Given the description of an element on the screen output the (x, y) to click on. 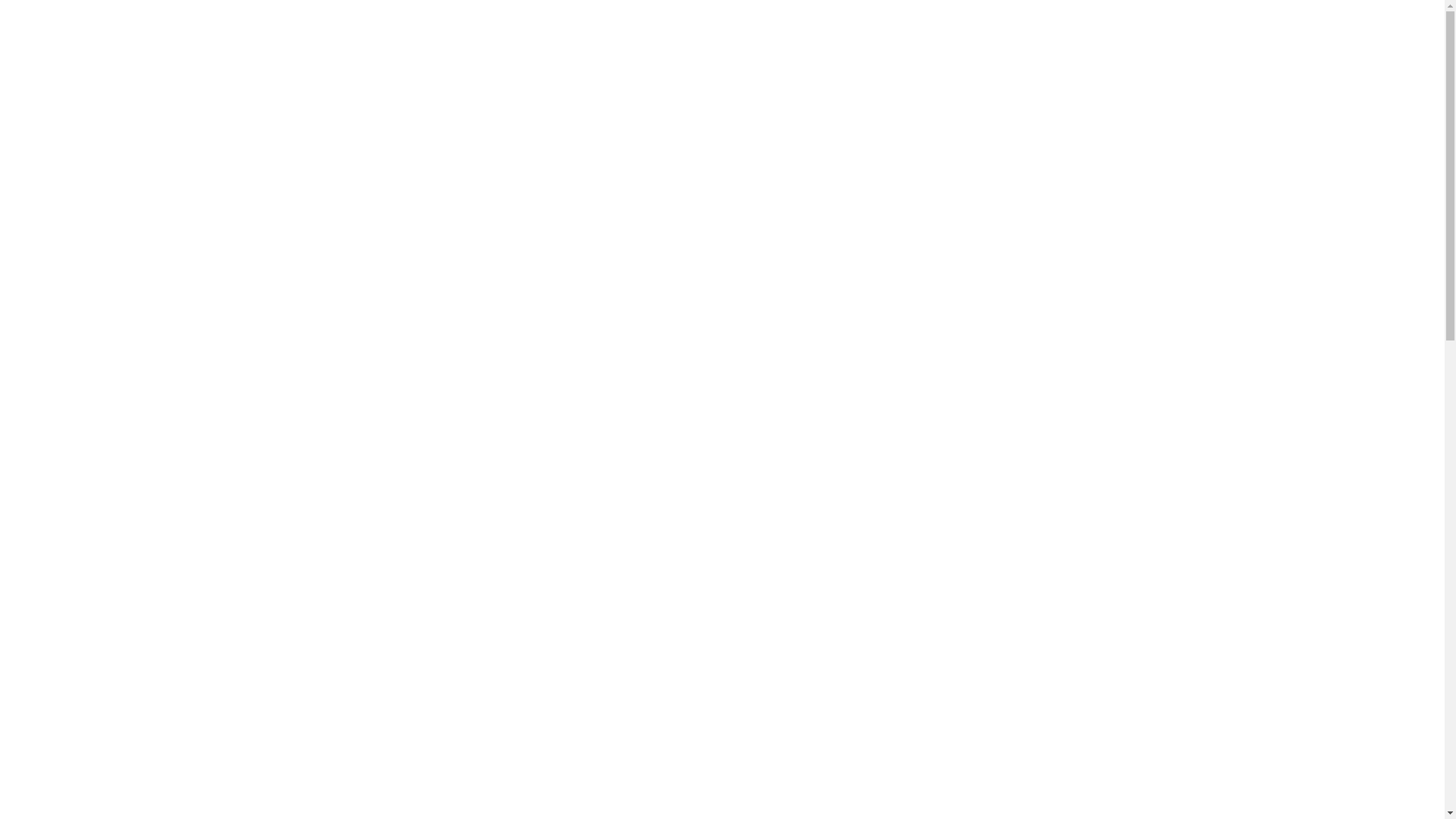
nach oben Element type: text (1365, 783)
Kaleido Element type: text (33, 150)
Projekte Element type: text (1196, 169)
Infos Element type: text (1287, 169)
Kontakt Element type: text (1377, 169)
